Given the description of an element on the screen output the (x, y) to click on. 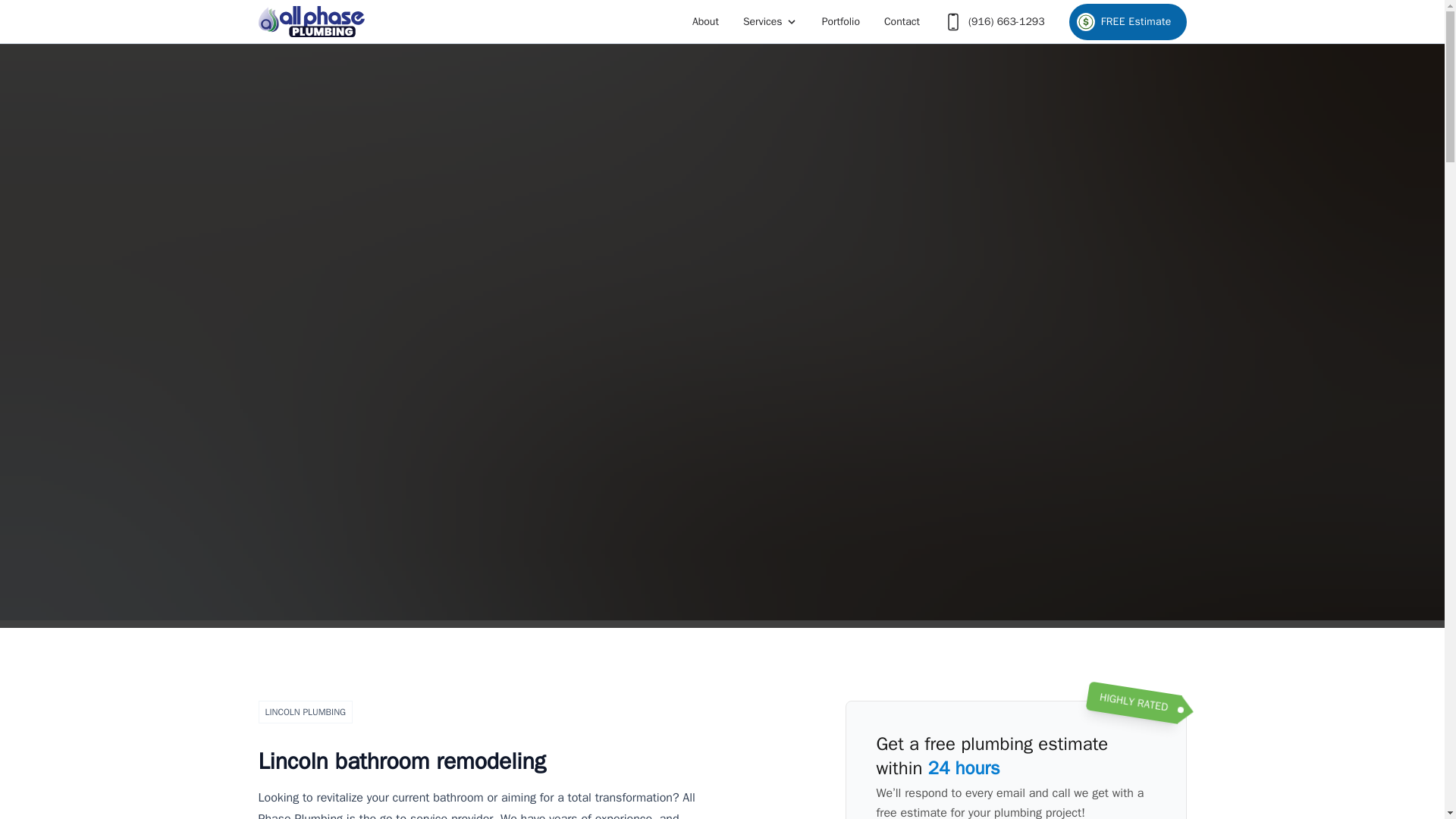
FREE Estimate (1127, 22)
Portfolio (840, 22)
Contact (901, 22)
About (705, 22)
